Given the description of an element on the screen output the (x, y) to click on. 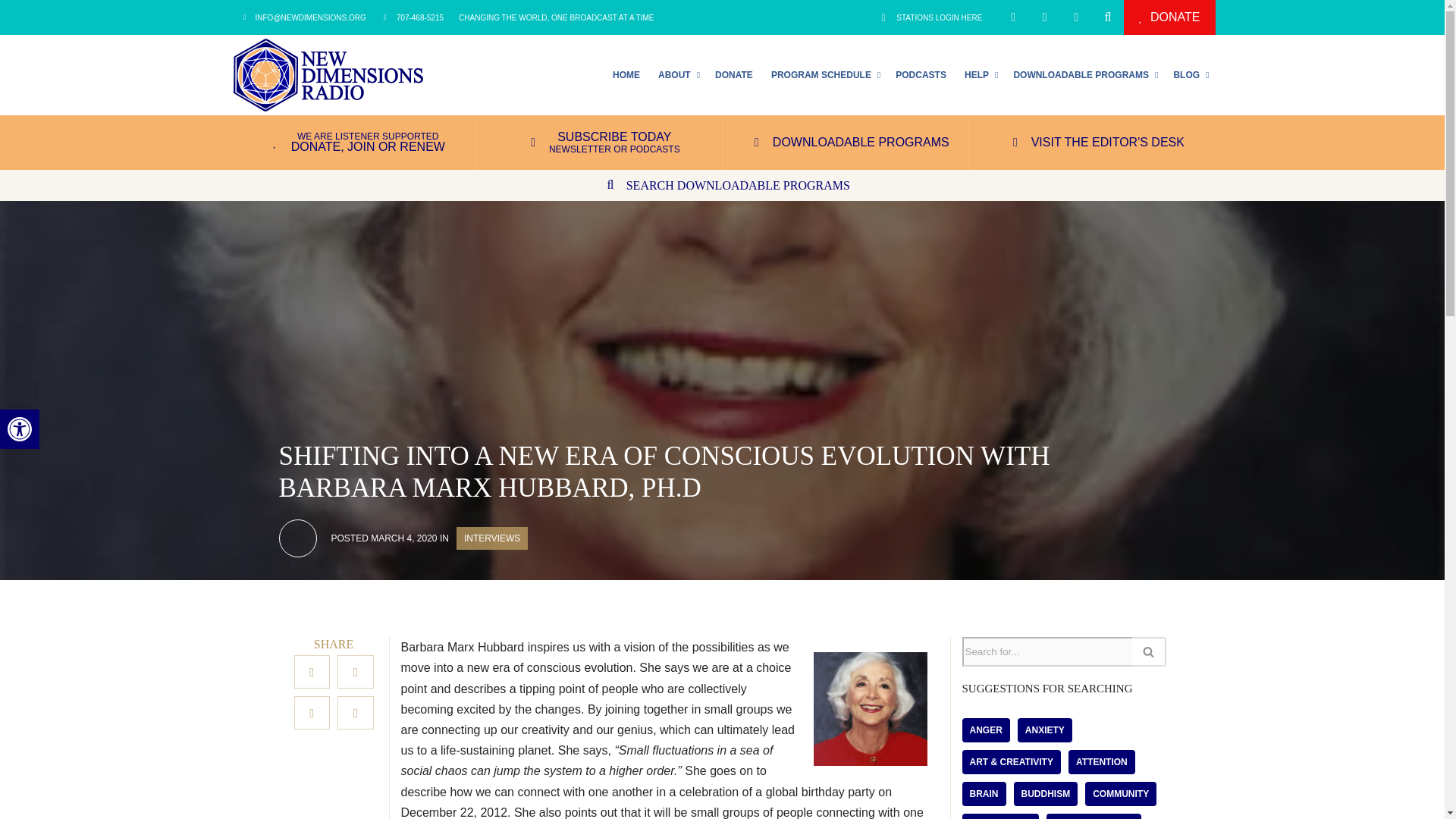
707-468-5215 (412, 17)
PODCASTS (920, 74)
Accessibility Tools (19, 428)
DONATE (19, 428)
Share on linkedin-in (733, 74)
STATIONS LOGIN HERE (312, 712)
HOME (929, 16)
Share on twitter (626, 74)
PROGRAM SCHEDULE (355, 671)
